Given the description of an element on the screen output the (x, y) to click on. 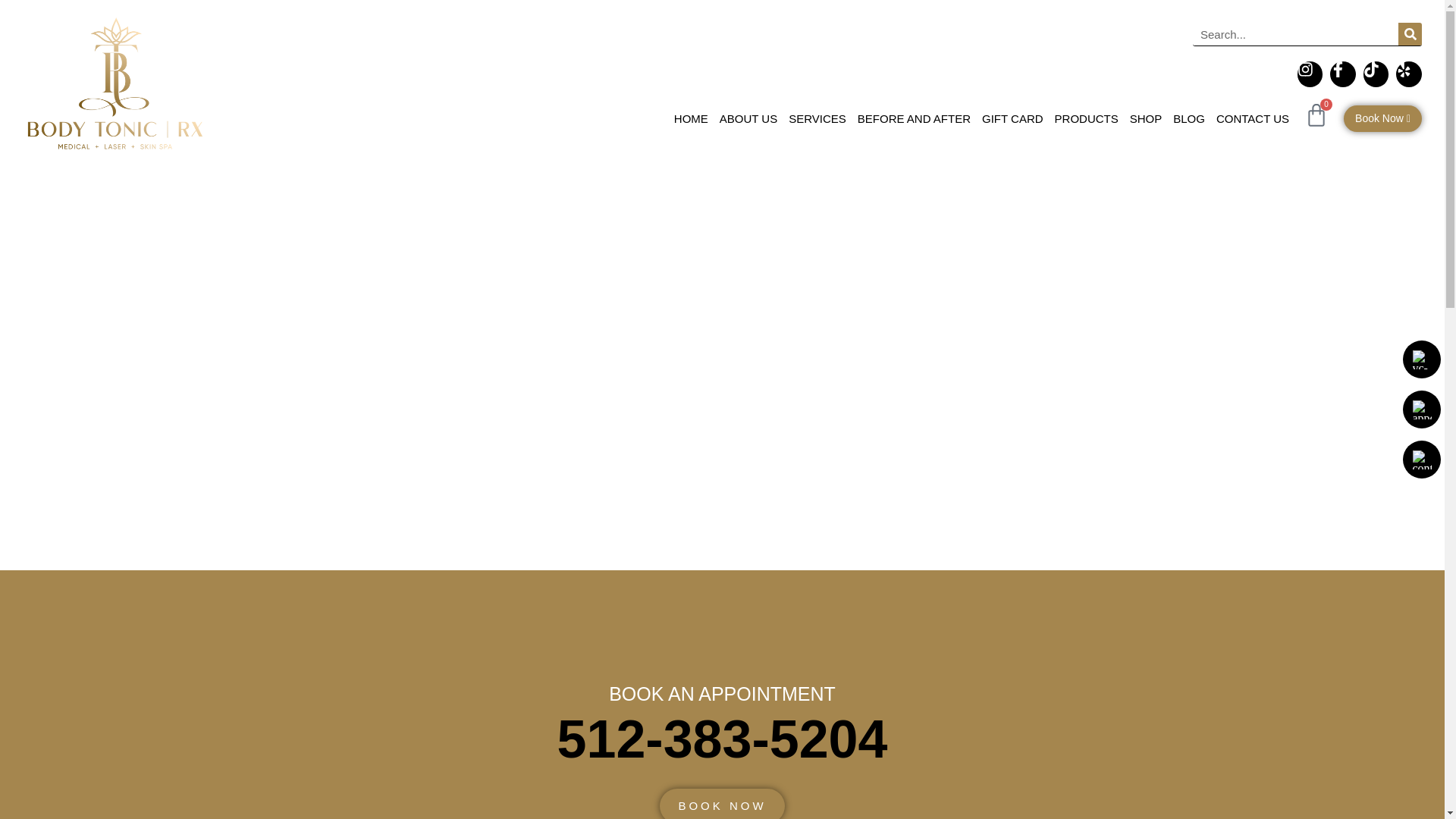
ABOUT US (748, 119)
SERVICES (817, 119)
HOME (690, 119)
